Given the description of an element on the screen output the (x, y) to click on. 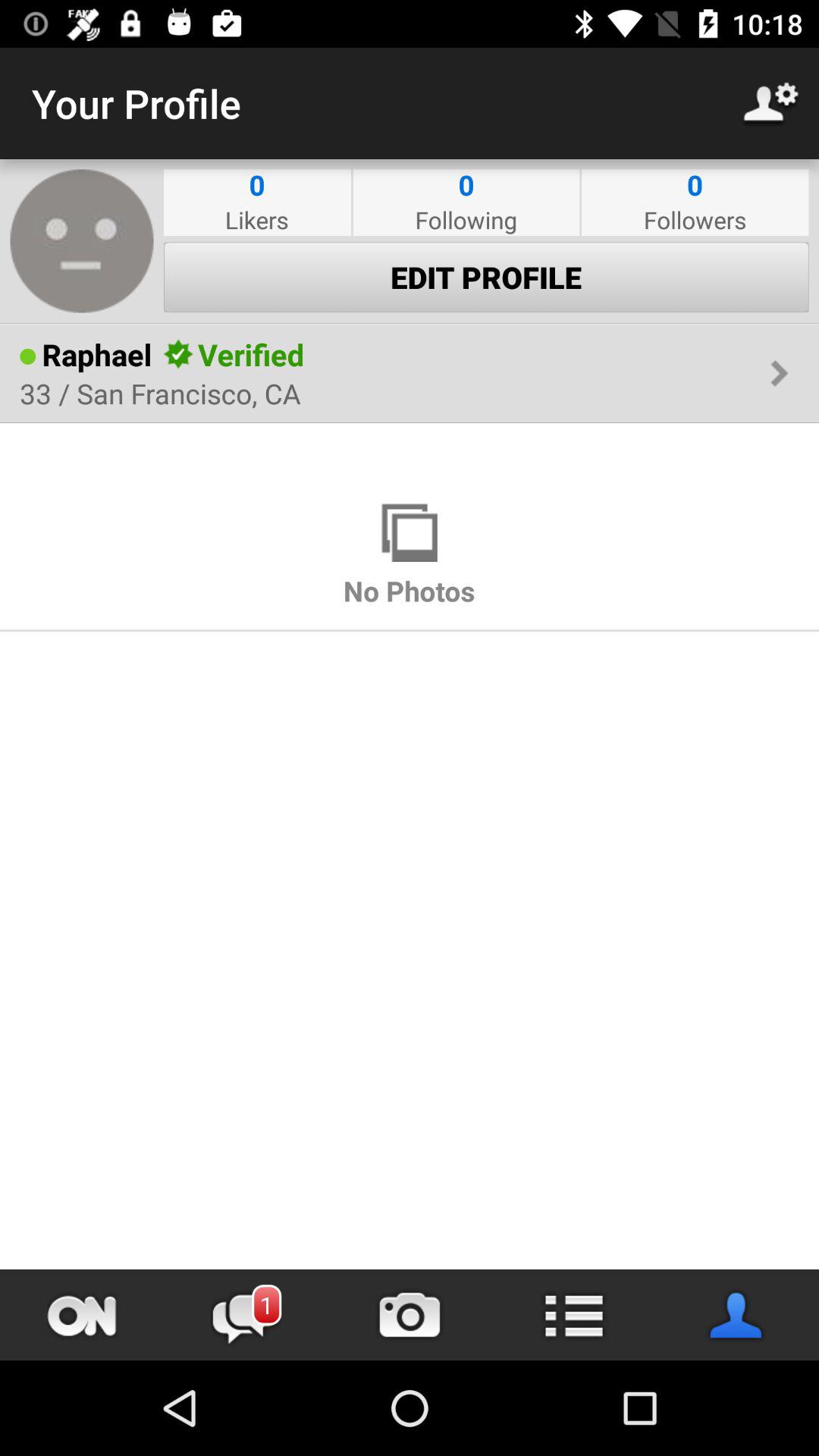
turn on the icon above 33 san francisco item (250, 354)
